Given the description of an element on the screen output the (x, y) to click on. 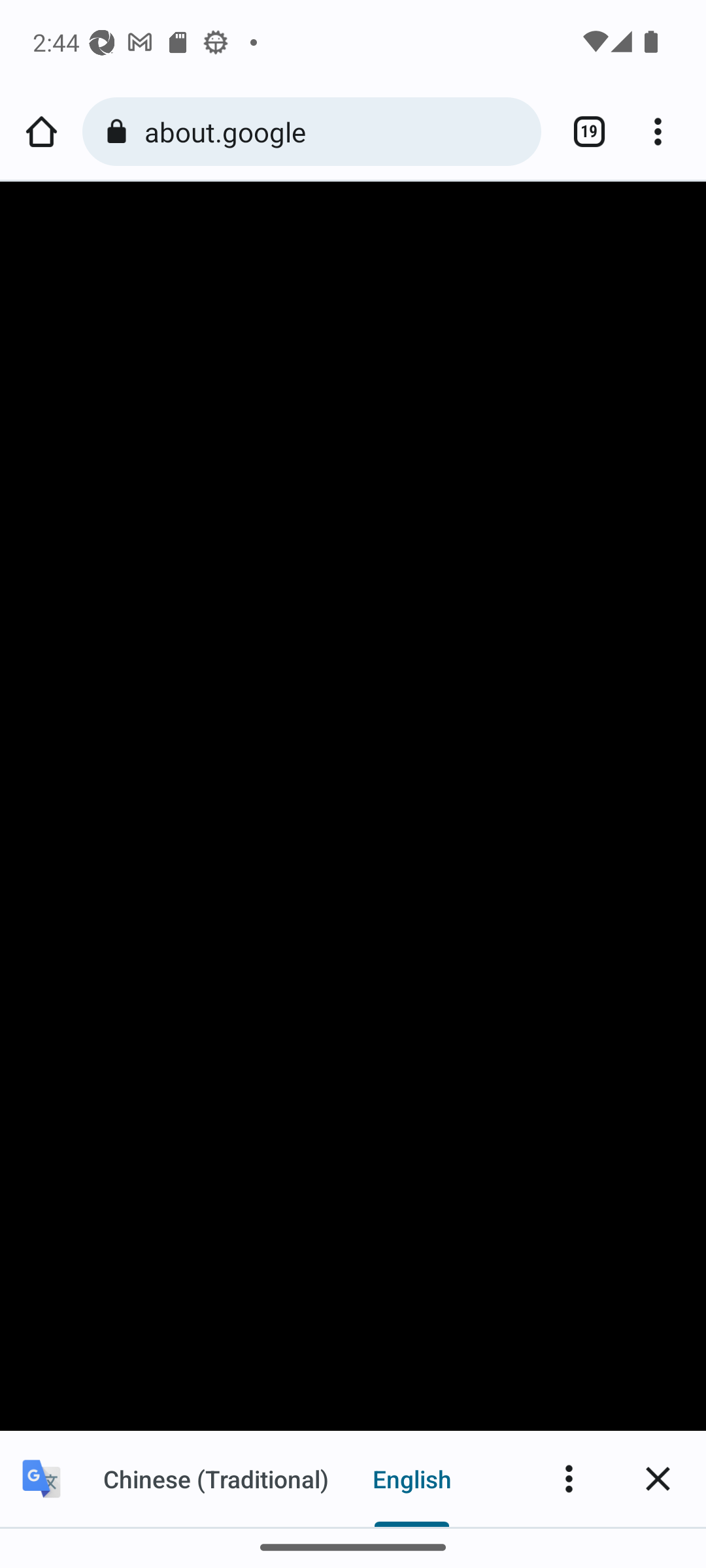
Home (41, 131)
Connection is secure (120, 131)
Switch or close tabs (582, 131)
More options (664, 131)
about.google (335, 131)
Open the navigation drawer Google (353, 235)
Chinese (Traditional) (216, 1478)
More options (568, 1478)
Close (657, 1478)
